Given the description of an element on the screen output the (x, y) to click on. 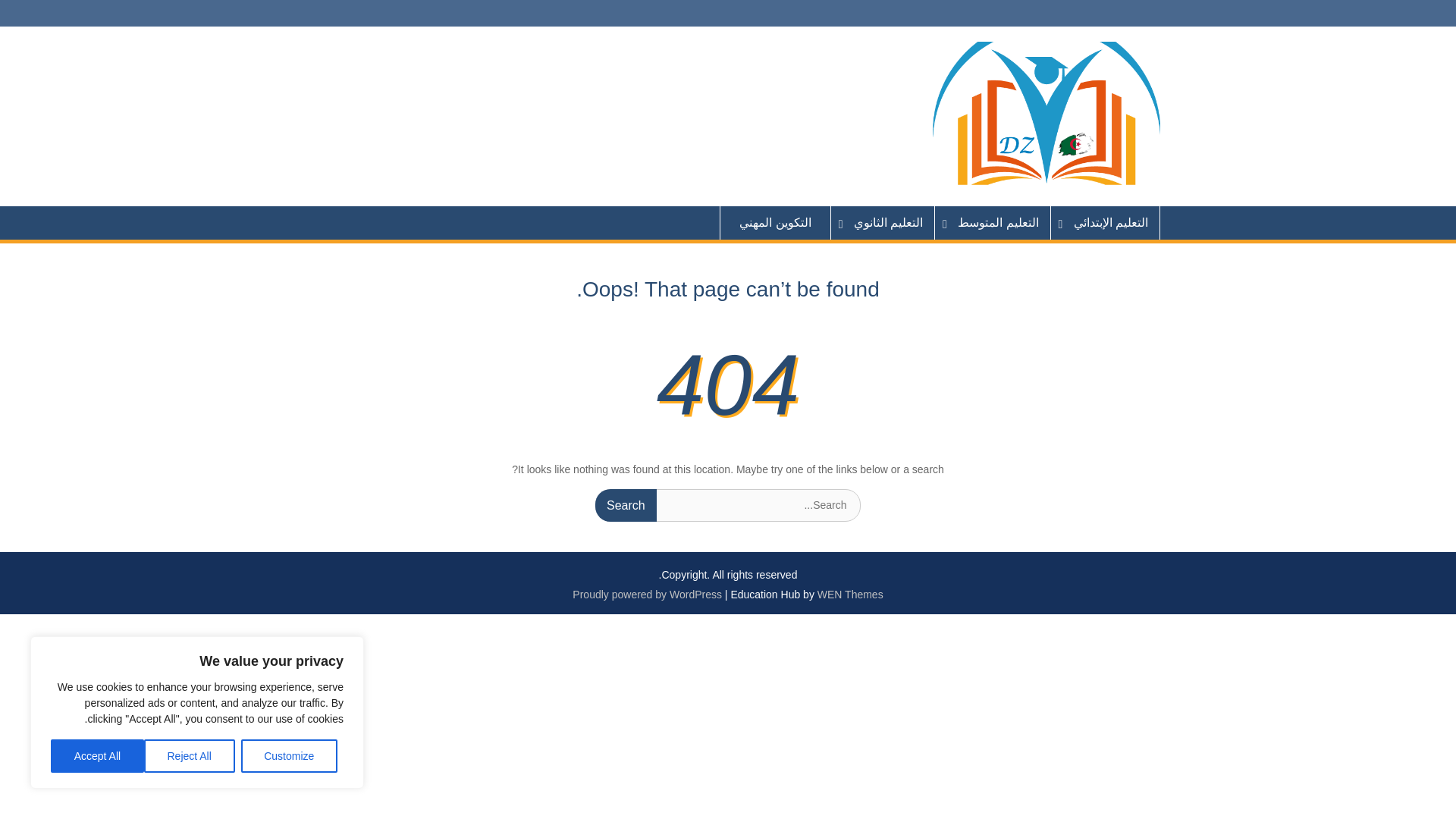
Search (625, 504)
Search for: (727, 504)
Search (625, 504)
Search (625, 504)
